Given the description of an element on the screen output the (x, y) to click on. 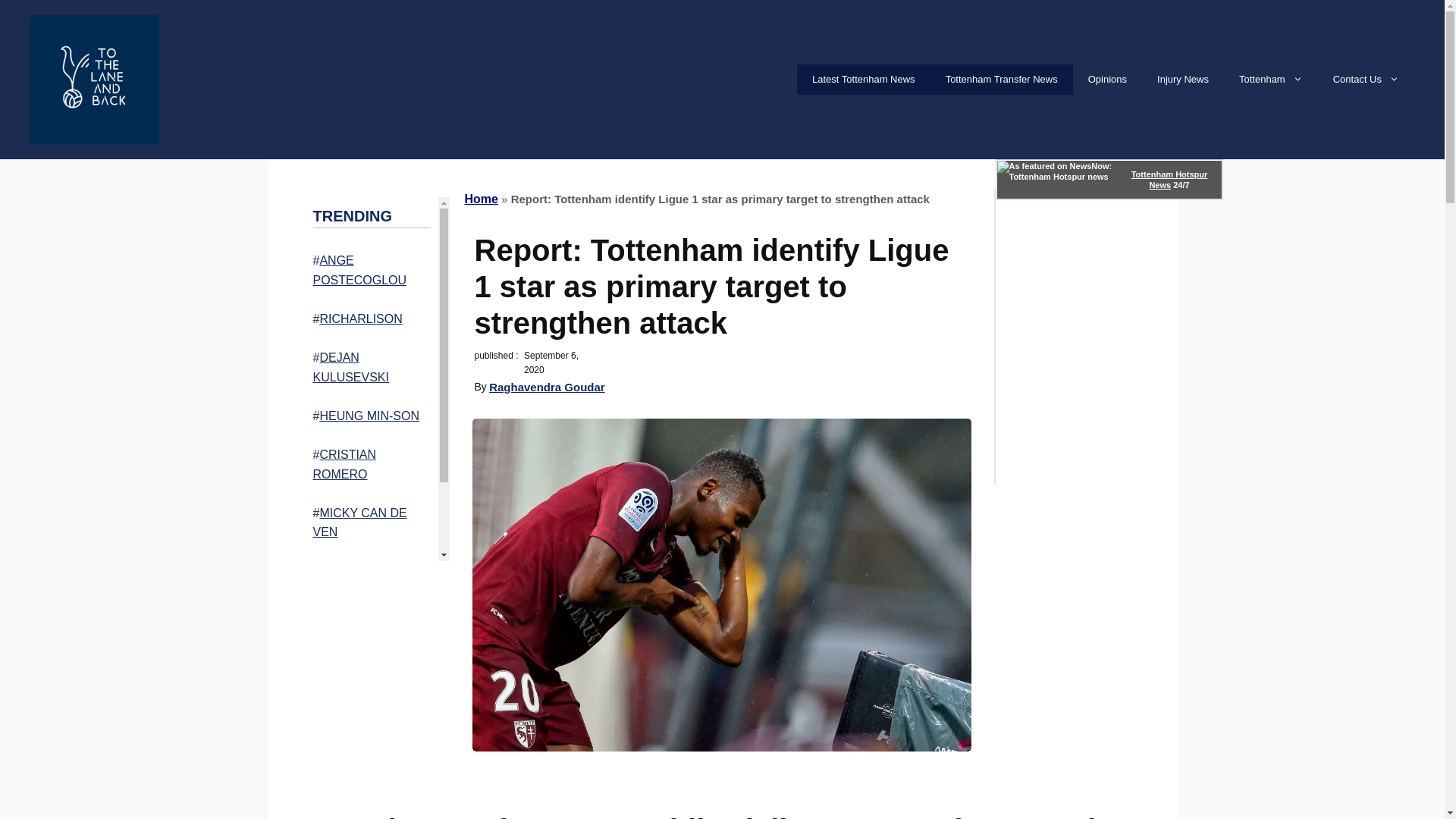
Injury News (1182, 79)
ARCHIE GRAY (366, 611)
Tottenham (1270, 79)
Raghavendra Goudar (547, 386)
RICHARLISON (359, 318)
Opinions (1107, 79)
RADU DRAGUSIN (369, 570)
Click here for more Tottenham Hotspur news from NewsNow (1108, 178)
HEUNG MIN-SON (368, 415)
Home (480, 198)
